Given the description of an element on the screen output the (x, y) to click on. 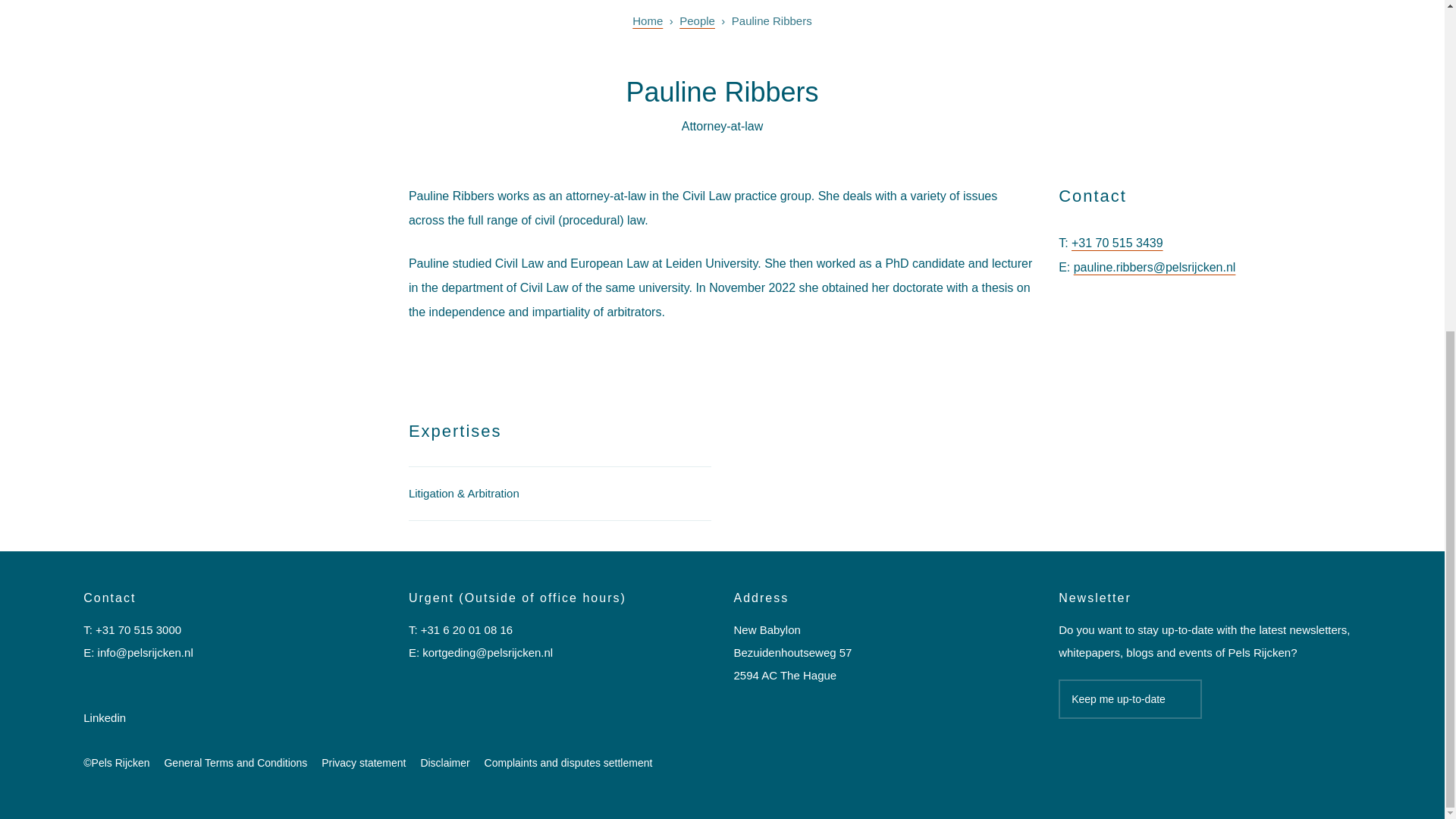
Privacy statement (363, 762)
Keep me up-to-date (1130, 699)
General Terms and Conditions (235, 762)
People (696, 20)
Home (646, 20)
Linkedin (103, 728)
Naar de linkedin pagina van Pels Rijcken (103, 728)
